Given the description of an element on the screen output the (x, y) to click on. 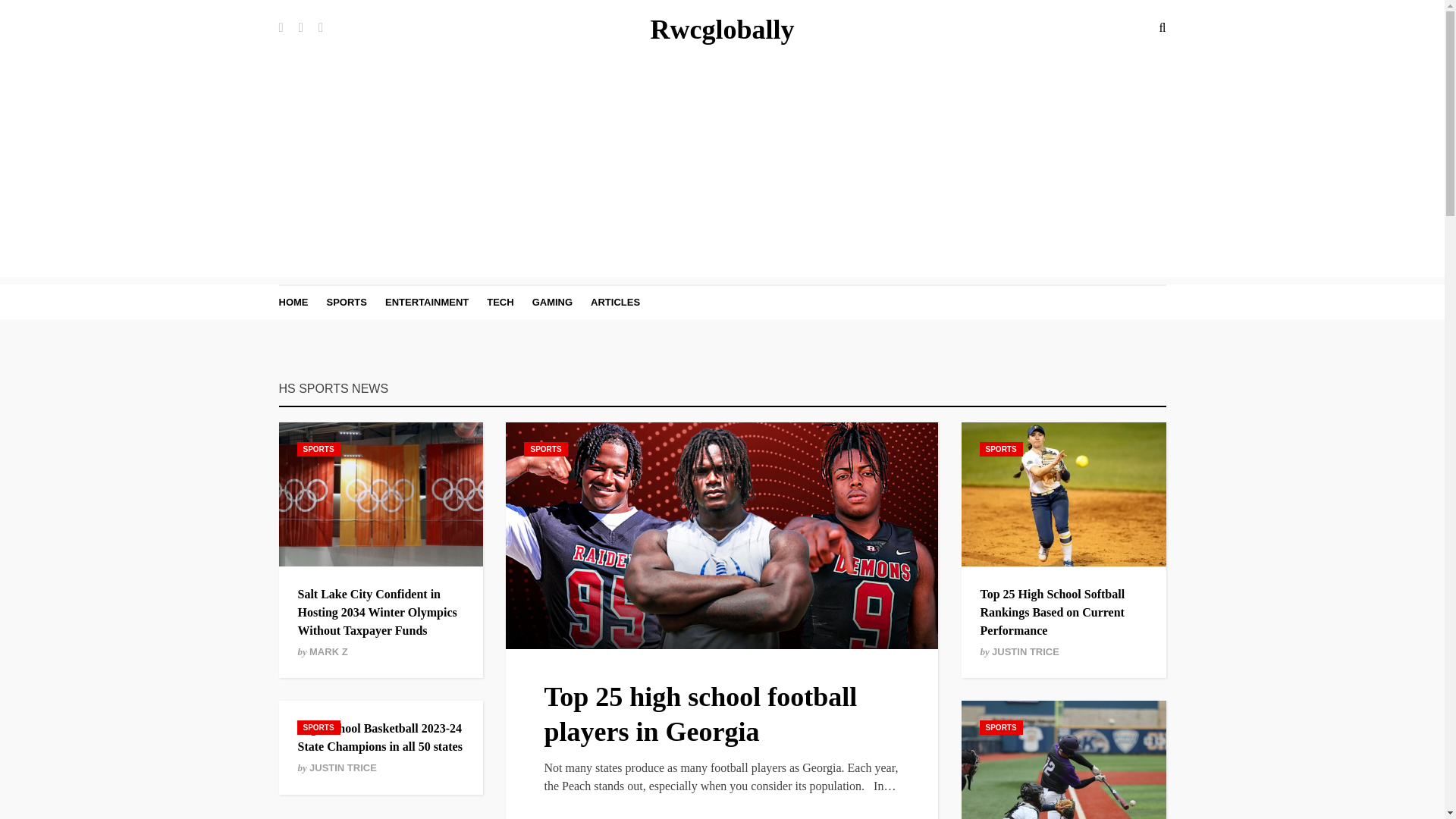
JUSTIN TRICE (1025, 651)
SPORTS (318, 727)
GAMING (552, 302)
SPORTS (318, 449)
Top 25 high school football players in Georgia (700, 714)
SPORTS (1001, 727)
